Given the description of an element on the screen output the (x, y) to click on. 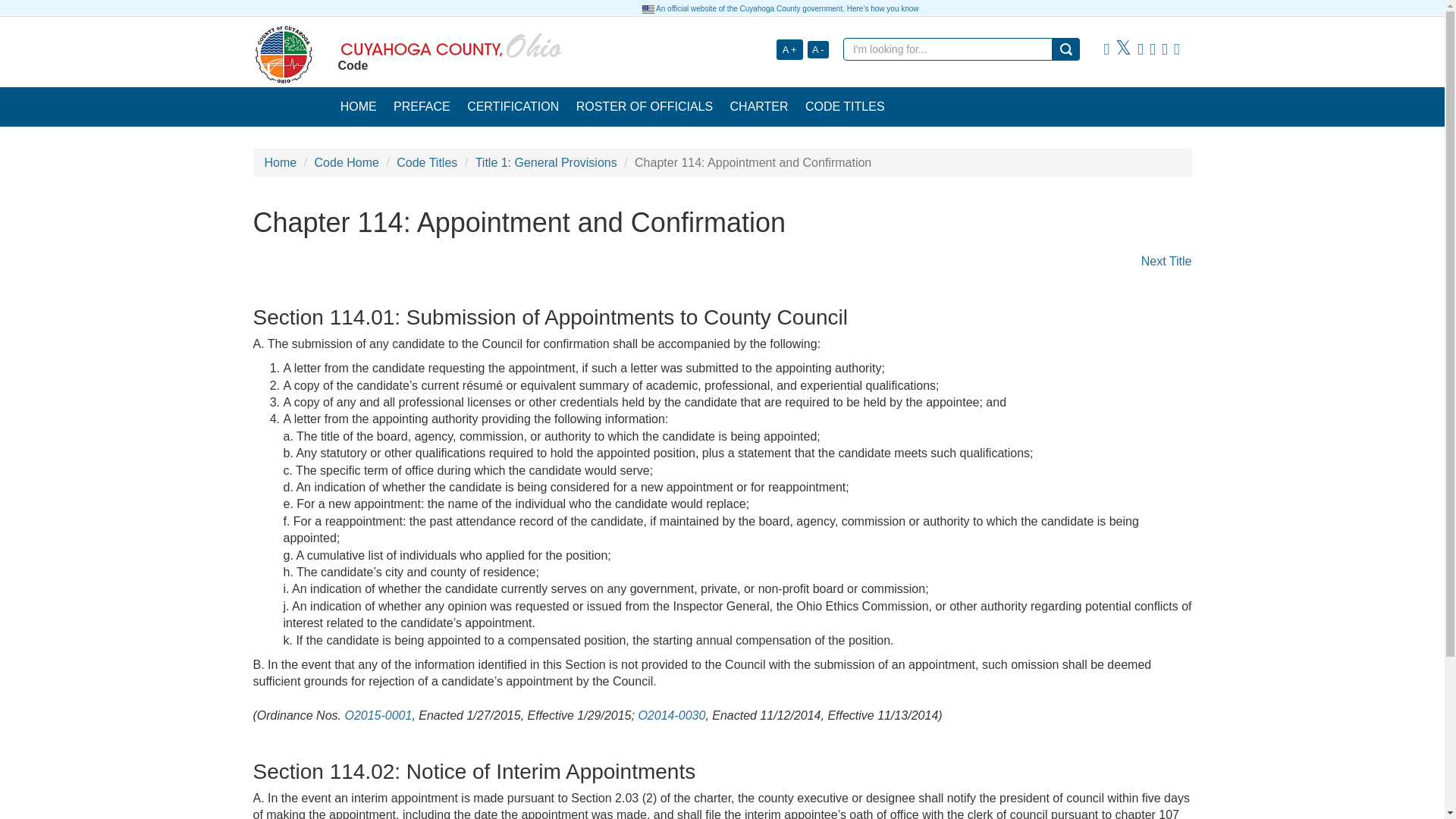
PREFACE (421, 106)
A - (817, 49)
Title 1: General Provisions (546, 162)
HOME (358, 106)
CERTIFICATION (512, 106)
O2015-0001 (377, 715)
Home (280, 162)
Twitter (1123, 48)
Code Home (346, 162)
CODE TITLES (844, 106)
Code Titles (426, 162)
O2014-0030 (670, 715)
CHARTER (758, 106)
Twitter (1123, 48)
Next Title (1166, 260)
